Given the description of an element on the screen output the (x, y) to click on. 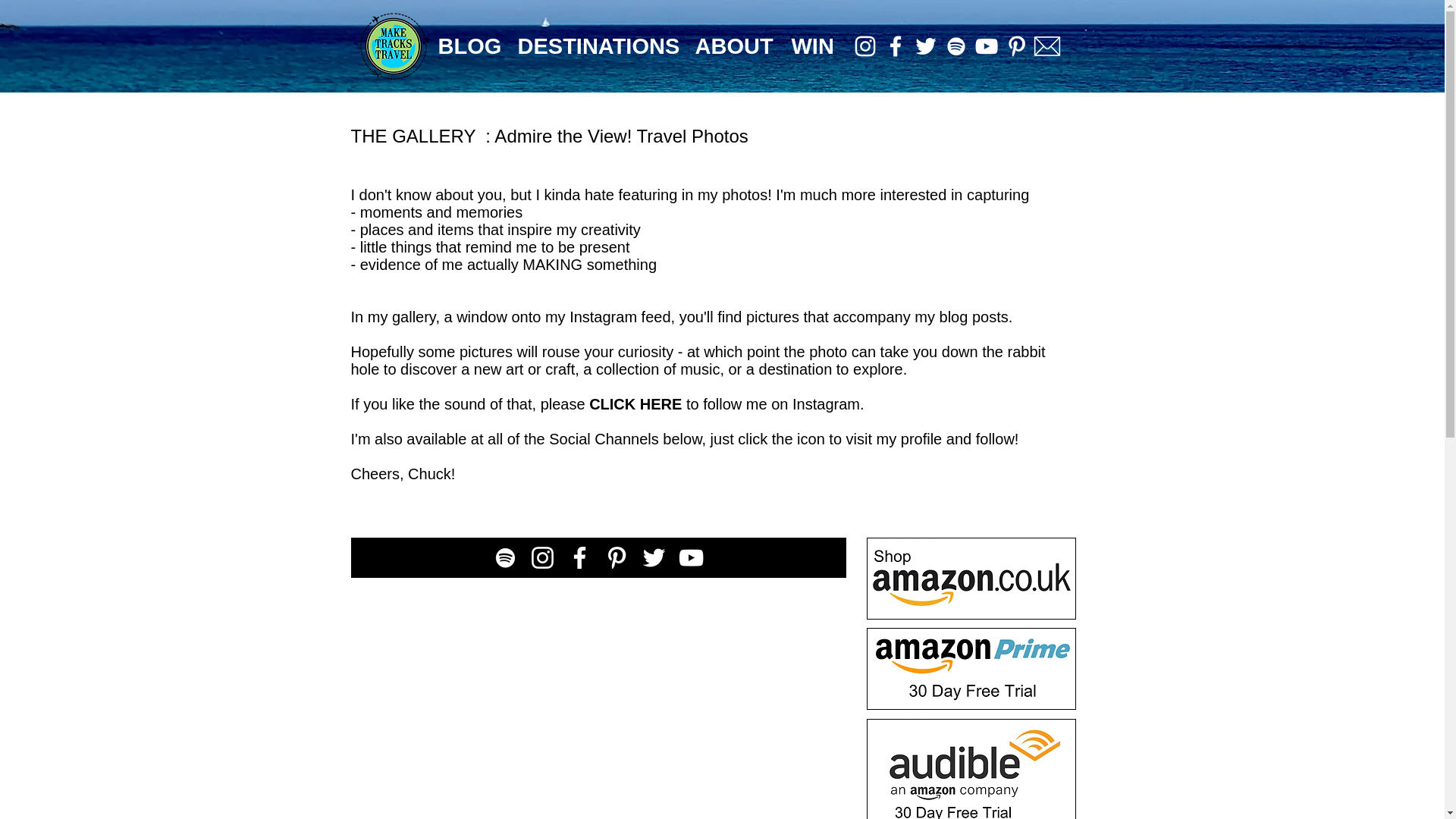
DESTINATIONS (594, 45)
BLOG (465, 45)
WIN (810, 45)
CLICK HERE (635, 403)
